Given the description of an element on the screen output the (x, y) to click on. 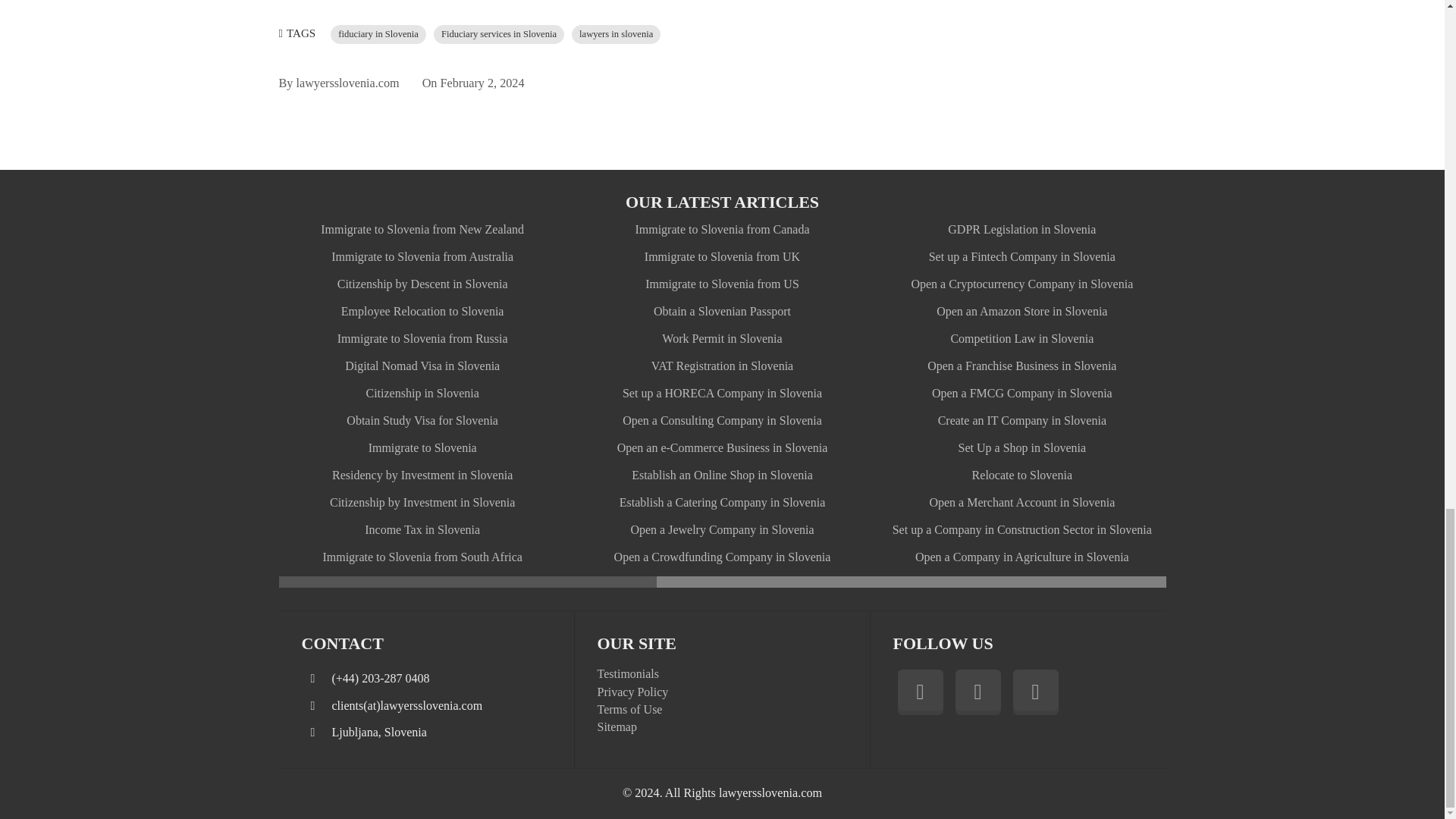
fiduciary in Slovenia (378, 34)
Fiduciary services in Slovenia (498, 34)
